Given the description of an element on the screen output the (x, y) to click on. 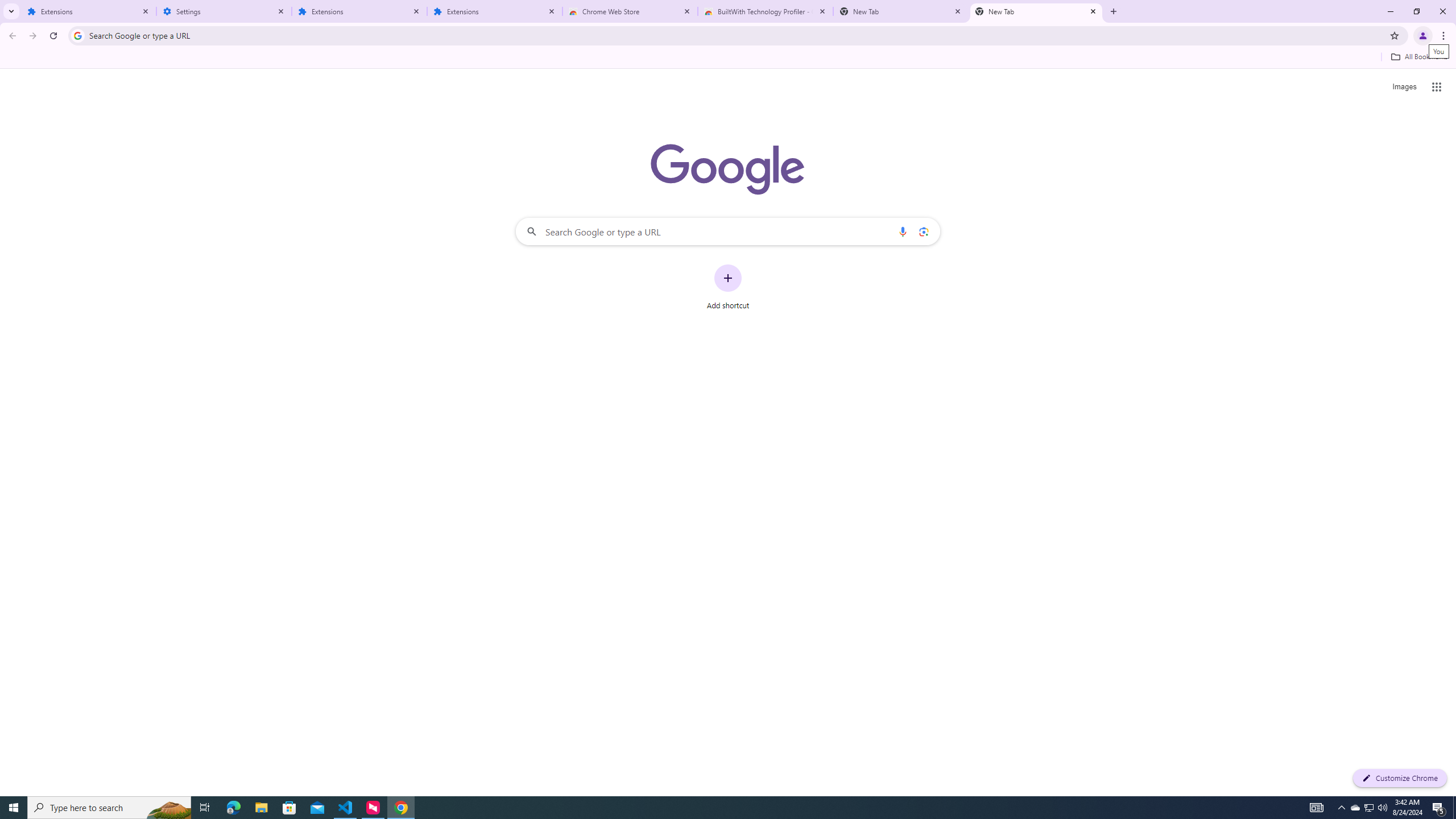
Extensions (494, 11)
Settings (224, 11)
